Given the description of an element on the screen output the (x, y) to click on. 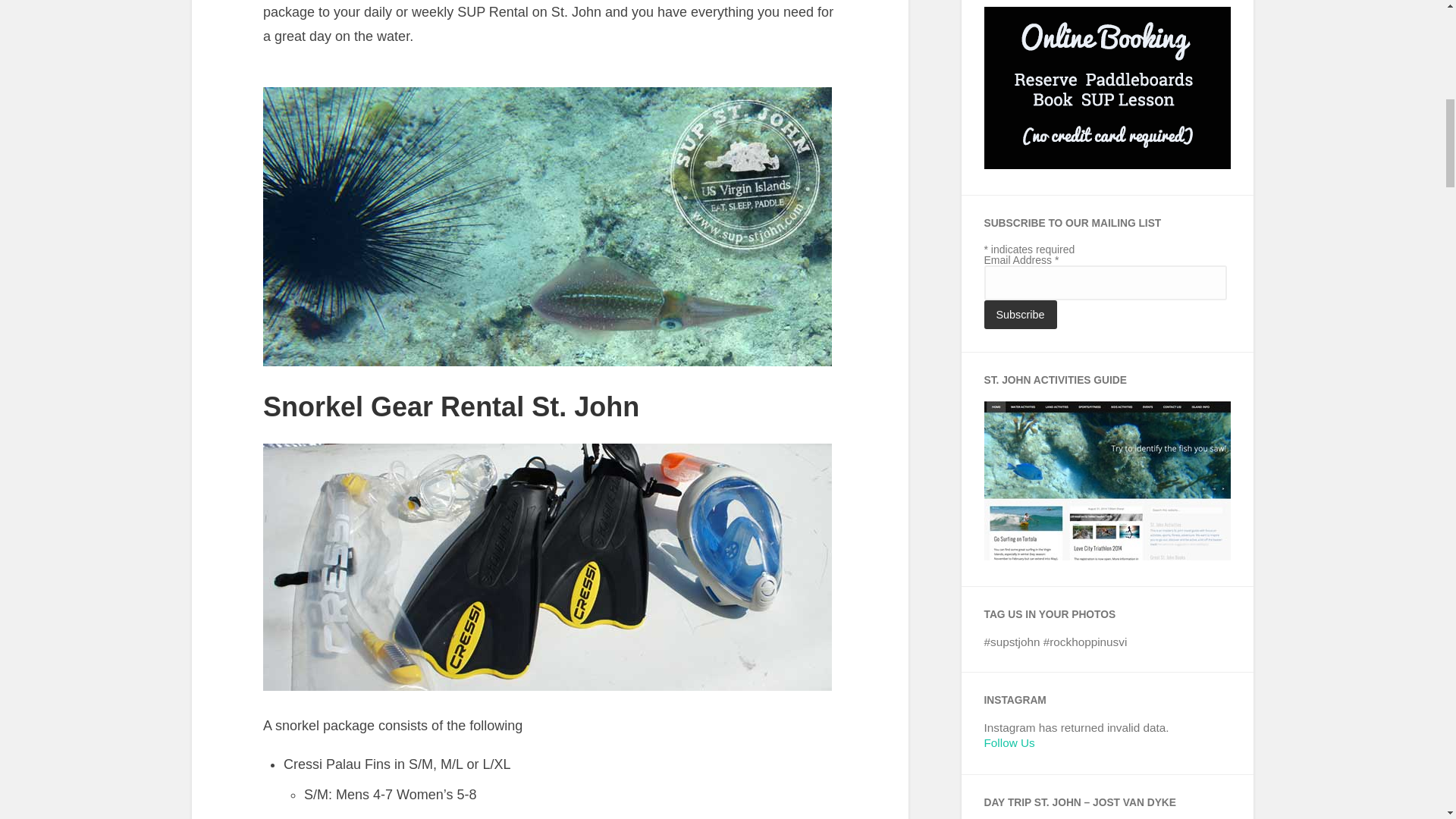
Subscribe (1020, 314)
